Given the description of an element on the screen output the (x, y) to click on. 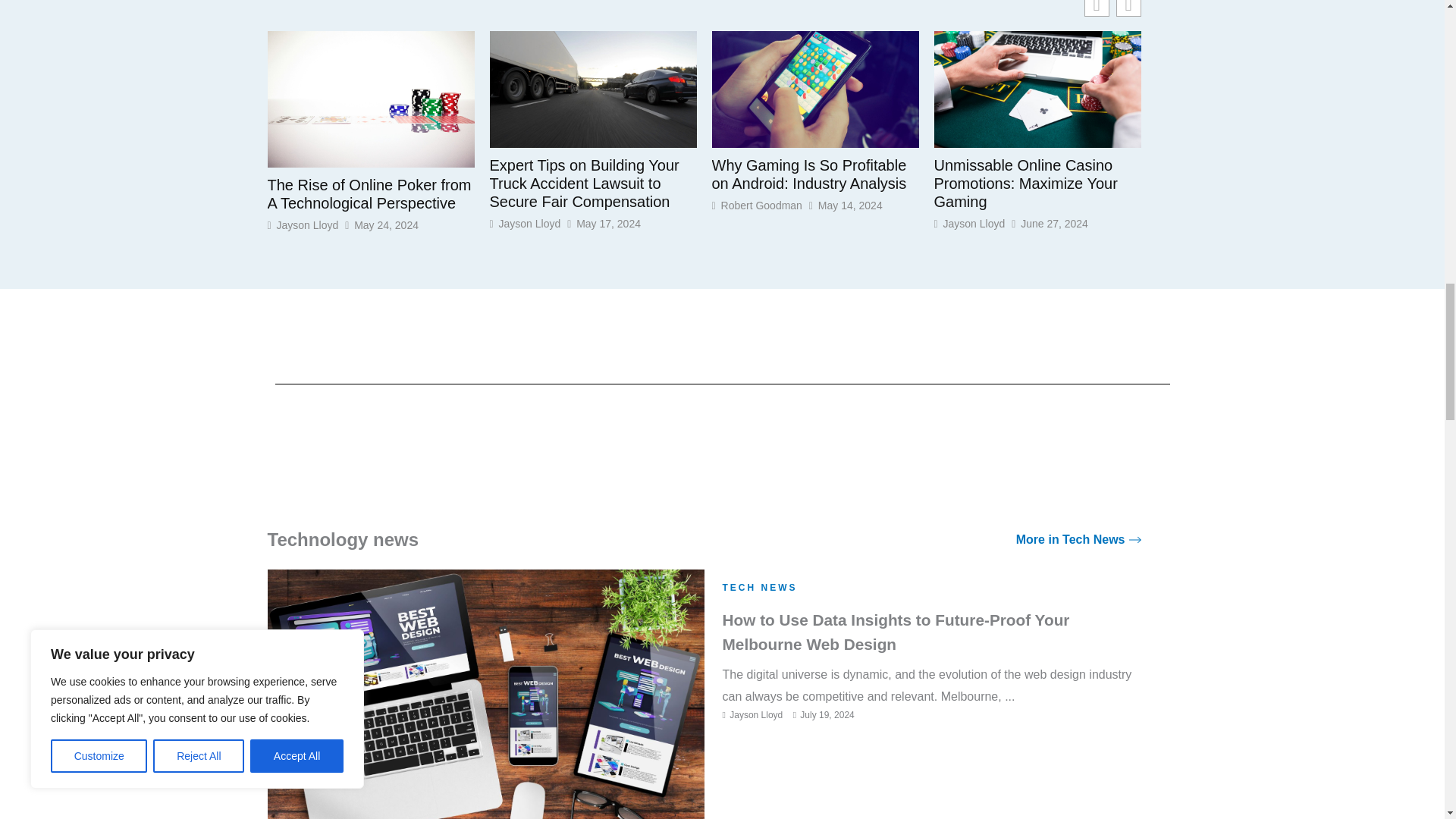
Posts by Jayson Lloyd (756, 715)
